Given the description of an element on the screen output the (x, y) to click on. 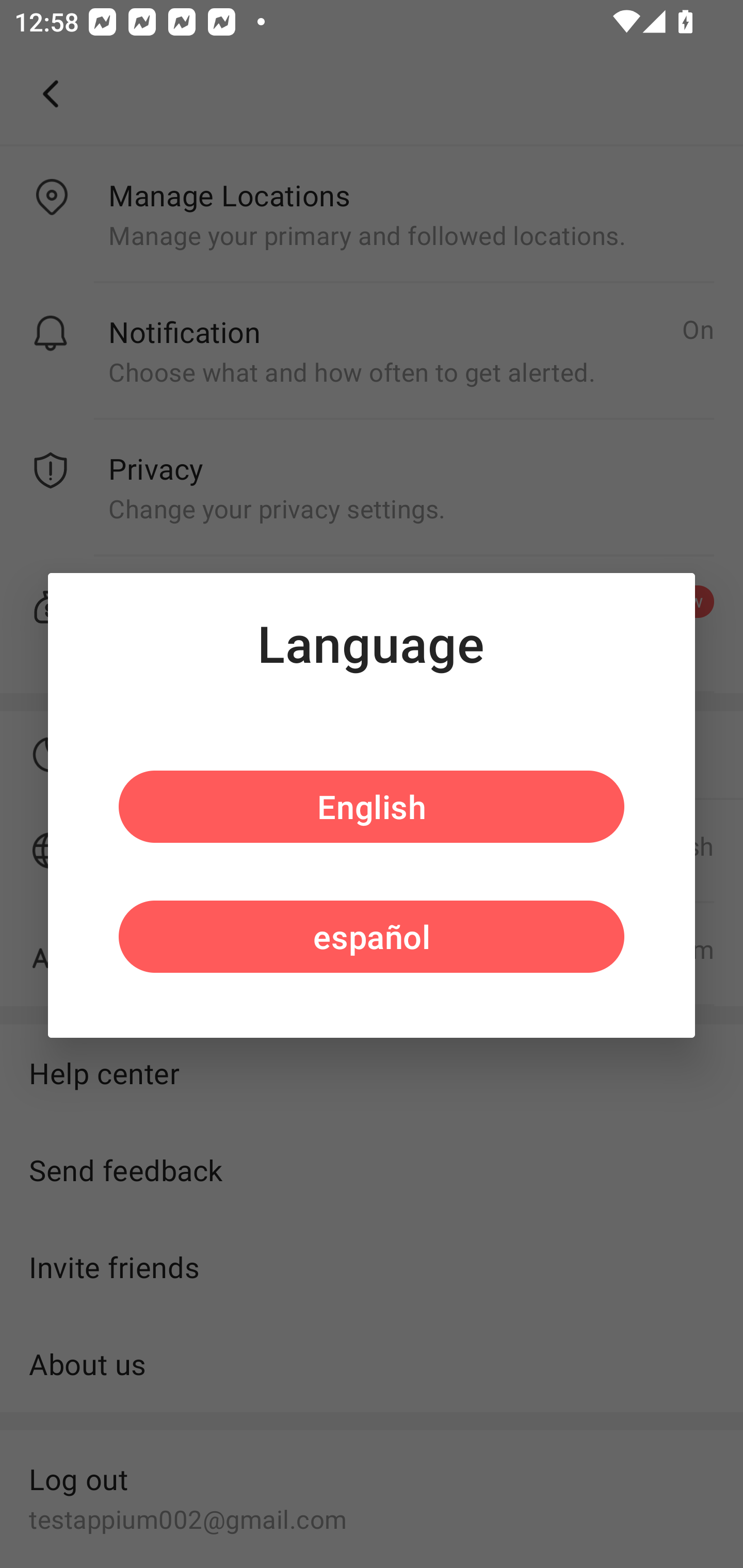
English (371, 806)
español (371, 936)
